Given the description of an element on the screen output the (x, y) to click on. 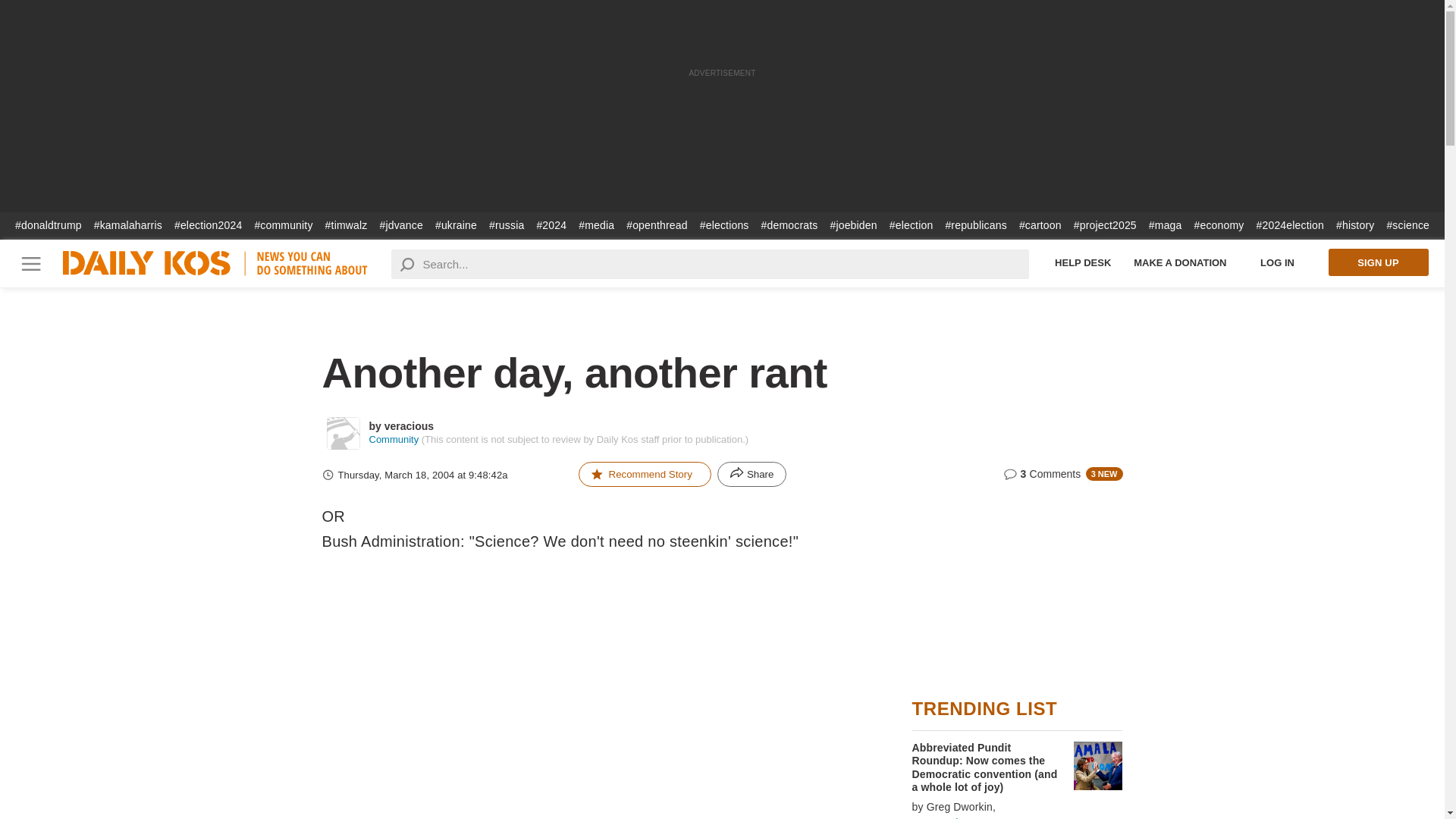
Help Desk (1082, 262)
Make a Donation (1179, 262)
MAKE A DONATION (1179, 262)
